Given the description of an element on the screen output the (x, y) to click on. 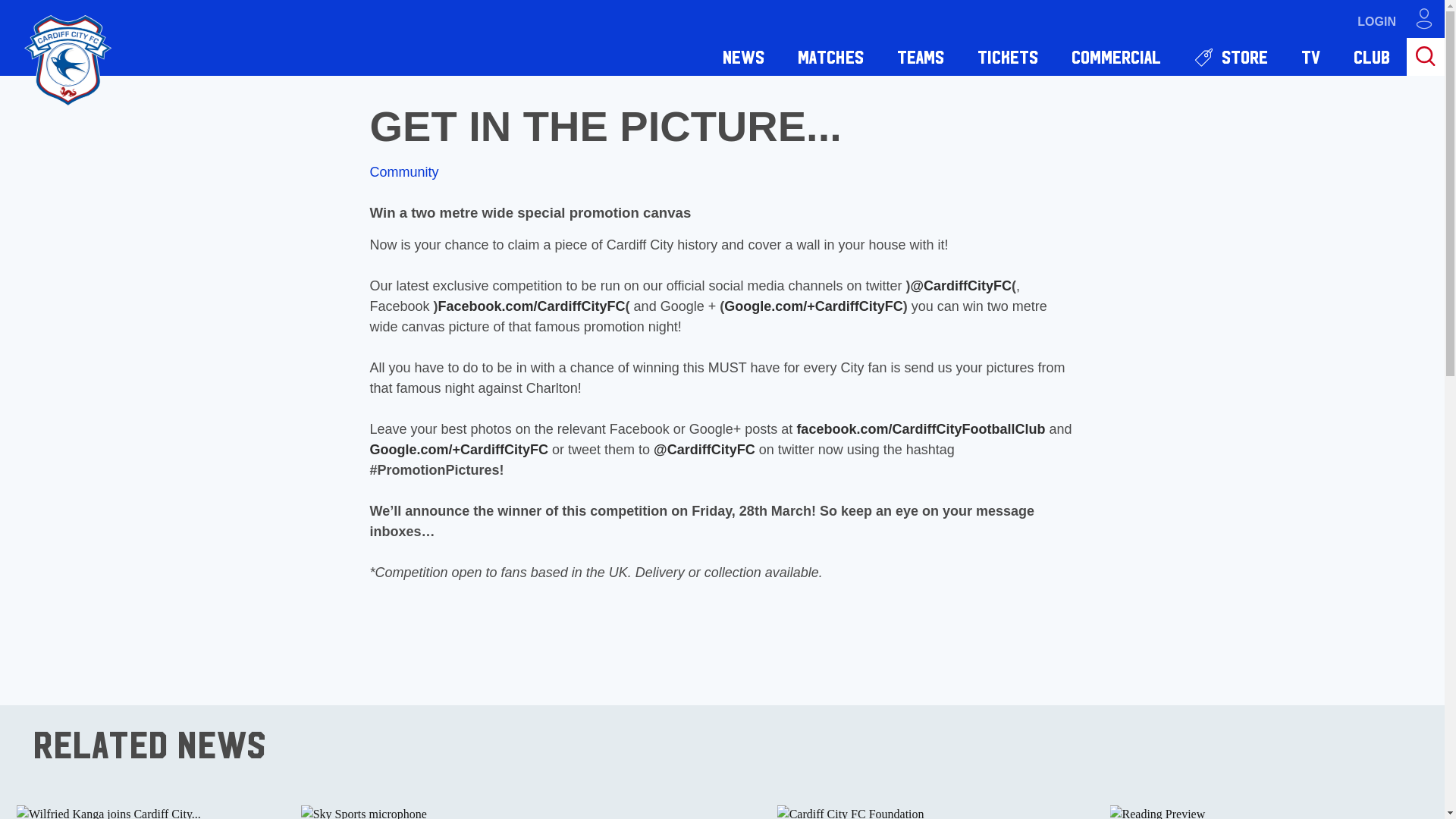
TICKETS (1007, 56)
NEWS (743, 56)
TEAMS (920, 56)
MATCHES (830, 56)
COMMERCIAL (1115, 56)
STORE (1230, 56)
